Given the description of an element on the screen output the (x, y) to click on. 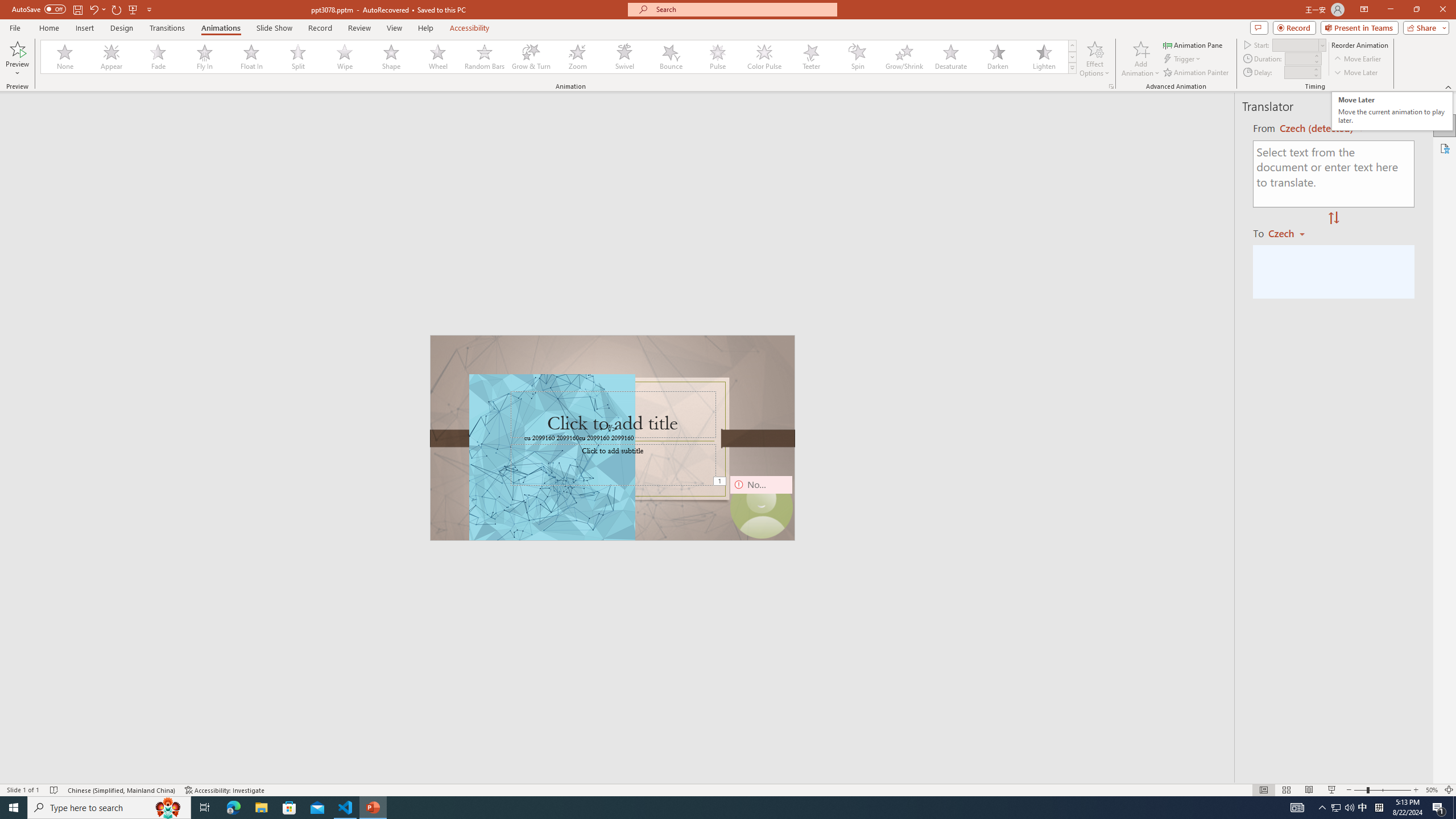
Fly In (205, 56)
Wipe (344, 56)
Pulse (717, 56)
More (1315, 69)
Lighten (1043, 56)
Desaturate (950, 56)
